Given the description of an element on the screen output the (x, y) to click on. 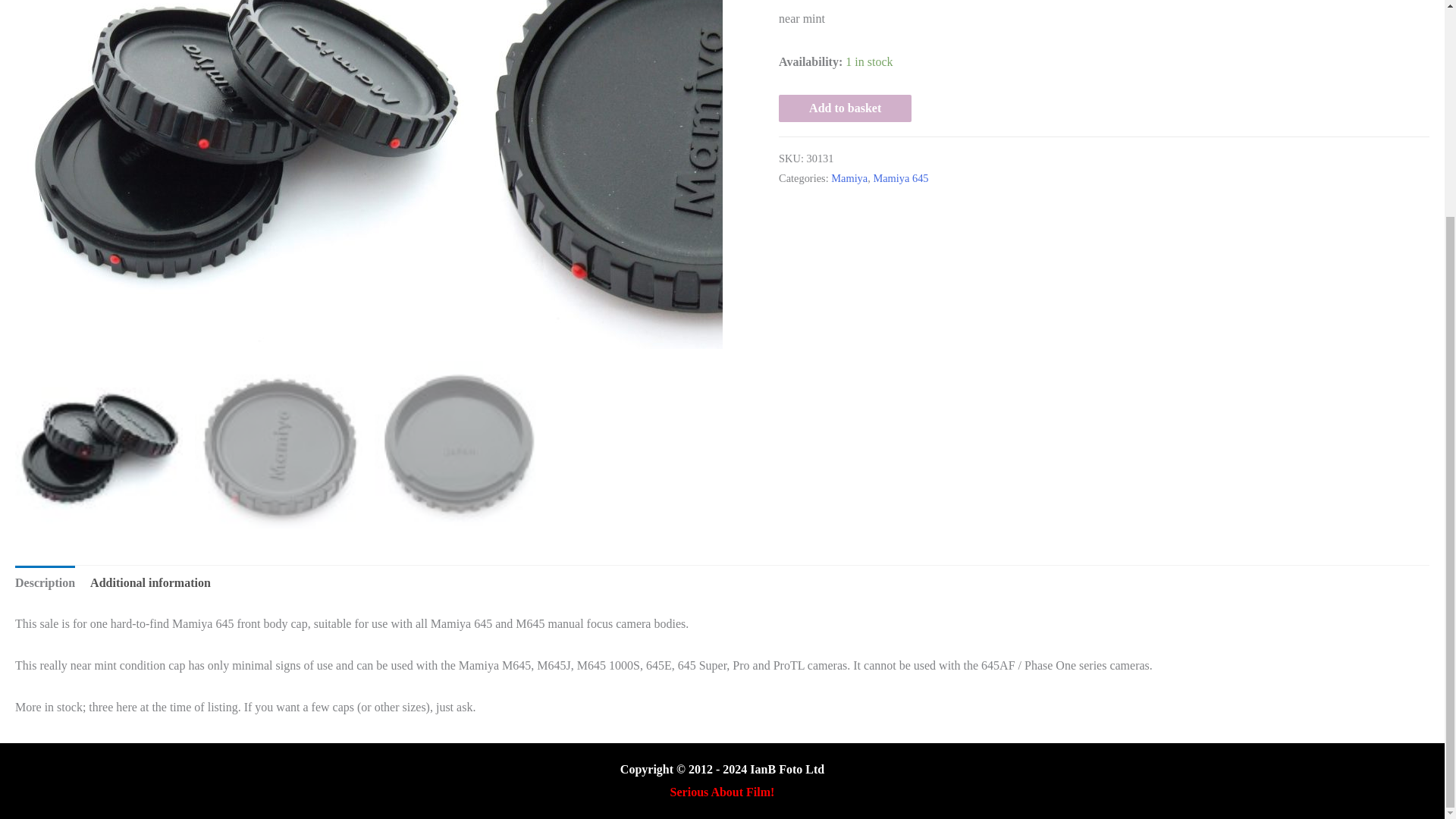
Additional information (150, 582)
Mamiya 645 (900, 177)
Description (44, 582)
Mamiya (849, 177)
Add to basket (844, 108)
